Given the description of an element on the screen output the (x, y) to click on. 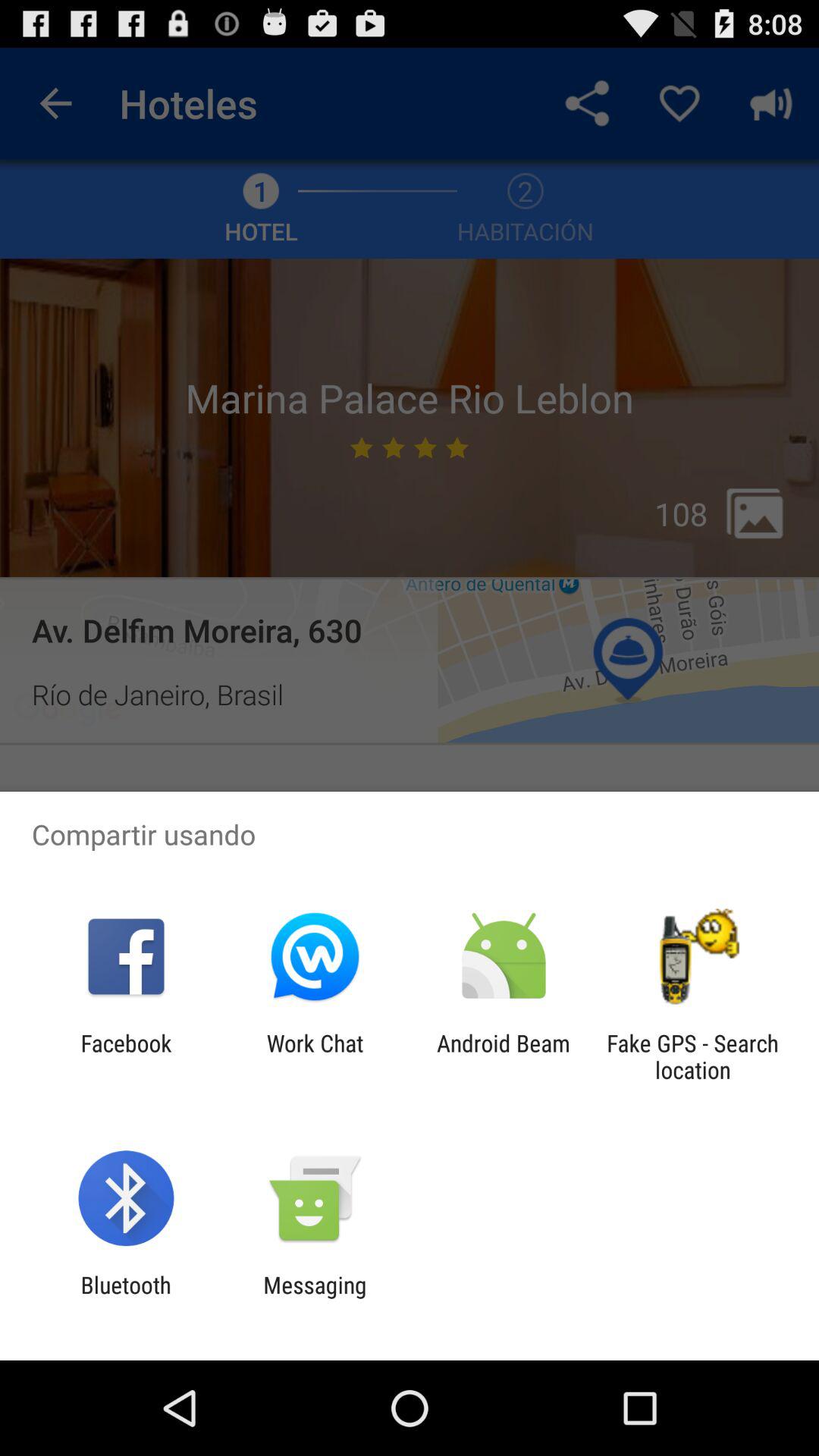
open the app next to the android beam icon (314, 1056)
